Given the description of an element on the screen output the (x, y) to click on. 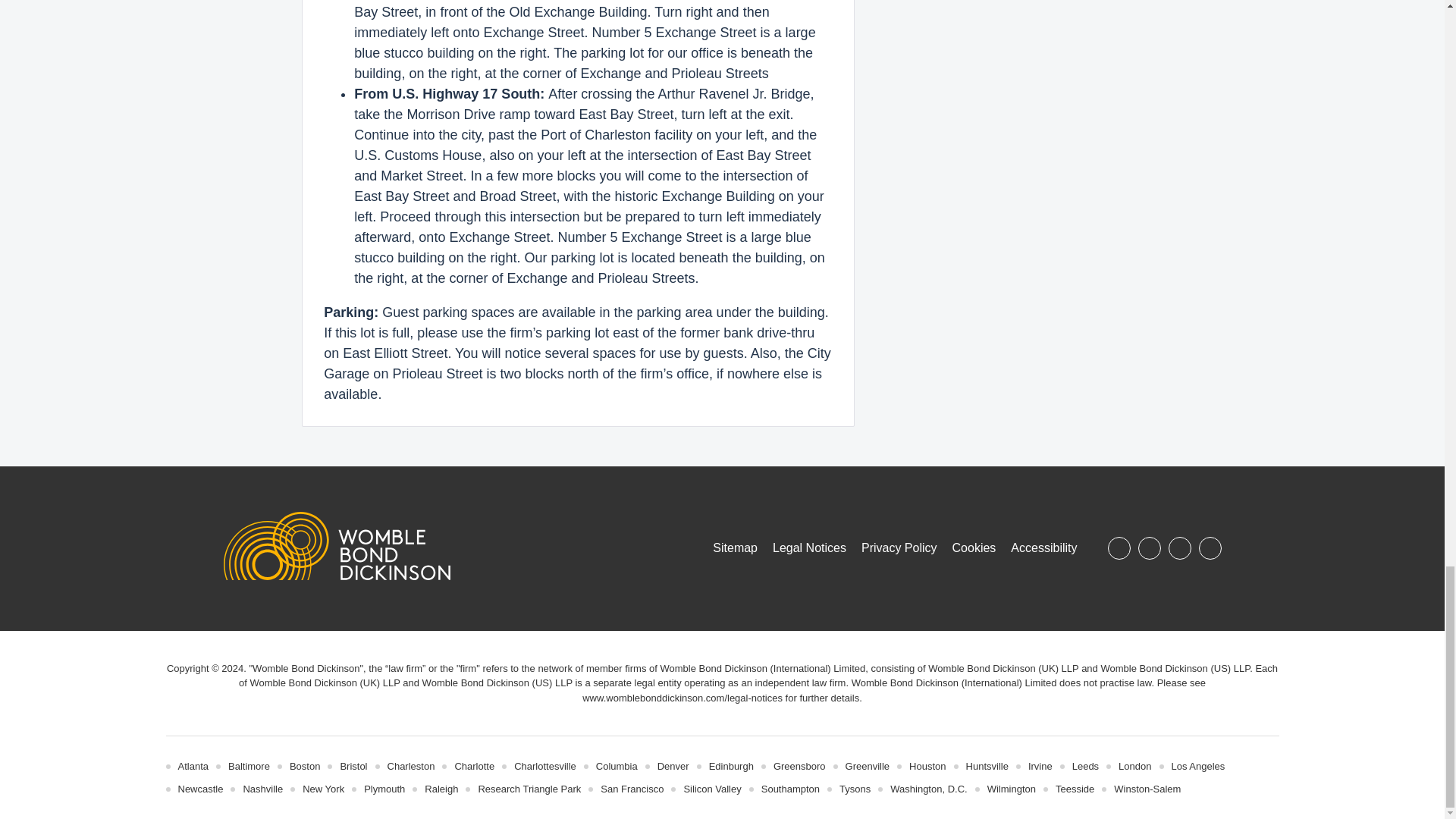
Baltimore, MD, US (248, 766)
Charleston, SC, US (411, 766)
Atlanta, GA, US (192, 766)
Charlottesville, VA, US (544, 766)
Columbia, SC, US (616, 766)
Charlotte, NC, US (474, 766)
Denver, CO, US (673, 766)
Boston, MA, US (304, 766)
Legal Notices (682, 697)
Edinburgh (731, 766)
Bristol (352, 766)
Greensboro, NC, US (799, 766)
Greenville, SC, US (867, 766)
